Given the description of an element on the screen output the (x, y) to click on. 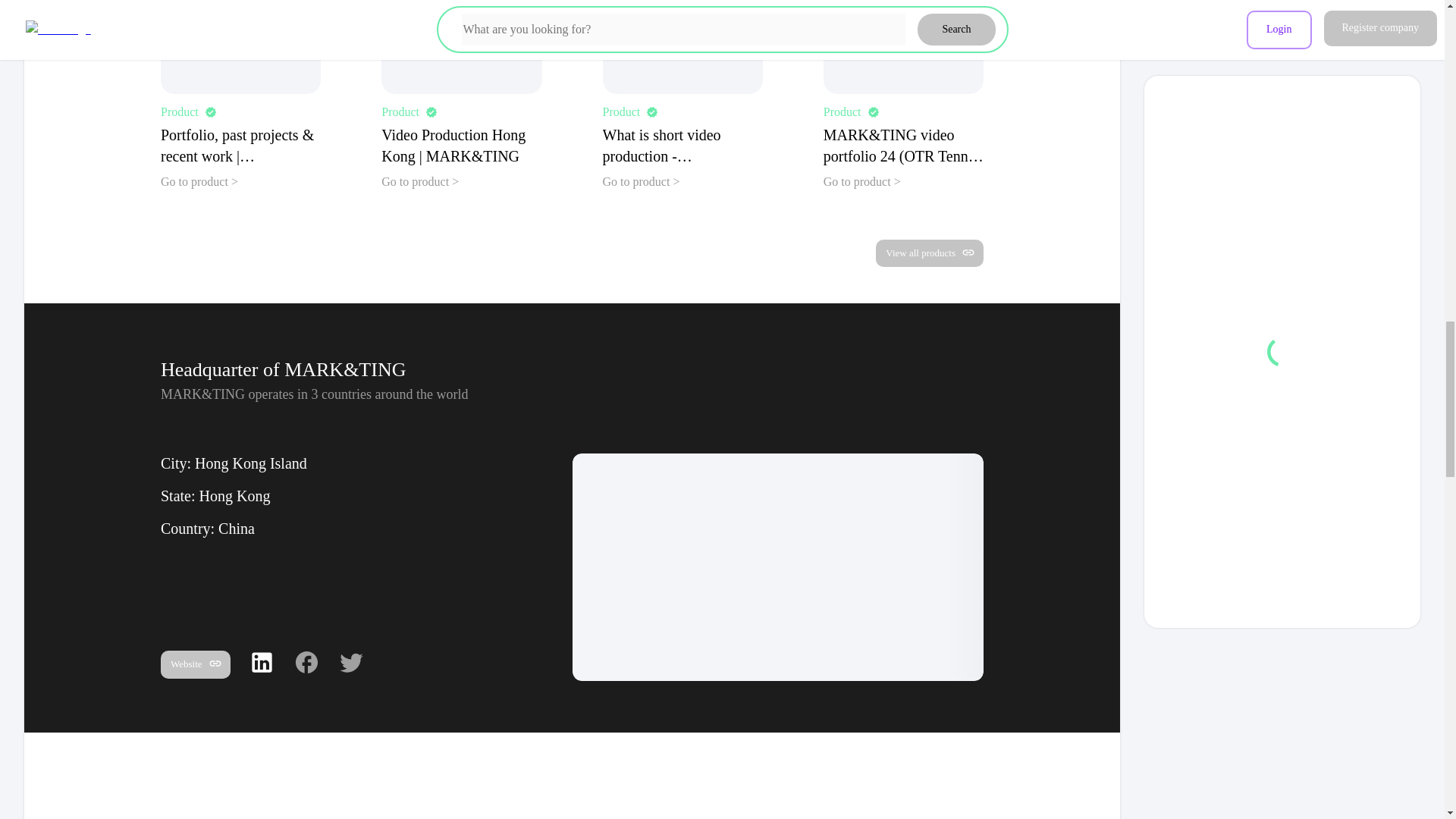
Website (195, 665)
View all products (930, 253)
Website (195, 664)
